Given the description of an element on the screen output the (x, y) to click on. 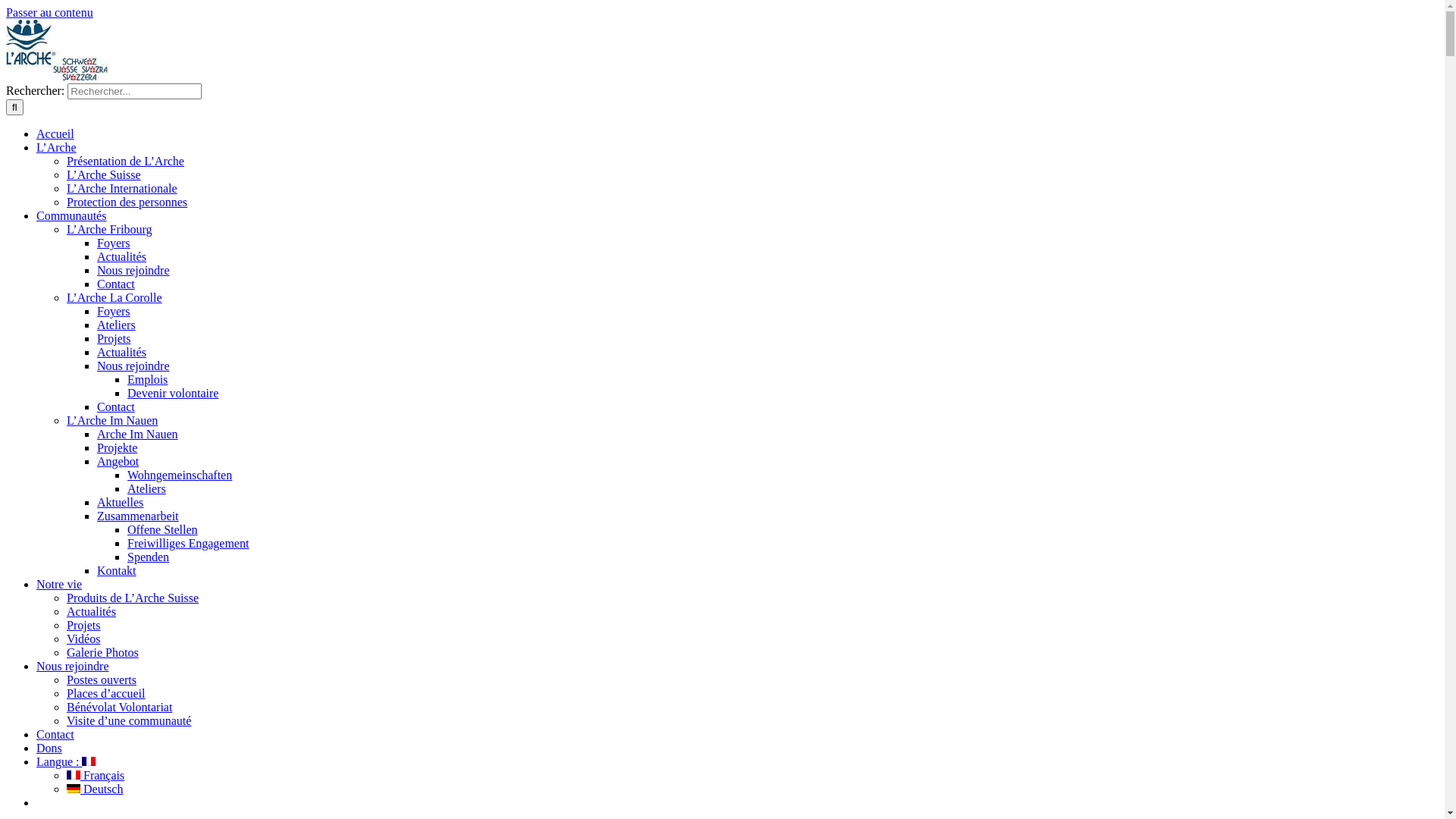
Projets Element type: text (113, 338)
Projekte Element type: text (117, 447)
Foyers Element type: text (113, 242)
 Deutsch Element type: text (94, 788)
Galerie Photos Element type: text (102, 652)
Angebot Element type: text (117, 461)
Zusammenarbeit Element type: text (137, 515)
Wohngemeinschaften Element type: text (179, 474)
Accueil Element type: text (55, 133)
Nous rejoindre Element type: text (133, 365)
Dons Element type: text (49, 747)
Foyers Element type: text (113, 310)
Projets Element type: text (83, 624)
Kontakt Element type: text (116, 570)
Protection des personnes Element type: text (126, 201)
Freiwilliges Engagement Element type: text (187, 542)
Langue :  Element type: text (65, 761)
Passer au contenu Element type: text (49, 12)
Notre vie Element type: text (58, 583)
Nous rejoindre Element type: text (133, 269)
Ateliers Element type: text (116, 324)
Contact Element type: text (55, 734)
Emplois Element type: text (147, 379)
Nous rejoindre Element type: text (72, 665)
Spenden Element type: text (148, 556)
Arche Im Nauen Element type: text (137, 433)
Ateliers Element type: text (146, 488)
Contact Element type: text (115, 406)
Devenir volontaire Element type: text (172, 392)
Aktuelles Element type: text (120, 501)
Postes ouverts Element type: text (101, 679)
Contact Element type: text (115, 283)
Offene Stellen Element type: text (162, 529)
